Given the description of an element on the screen output the (x, y) to click on. 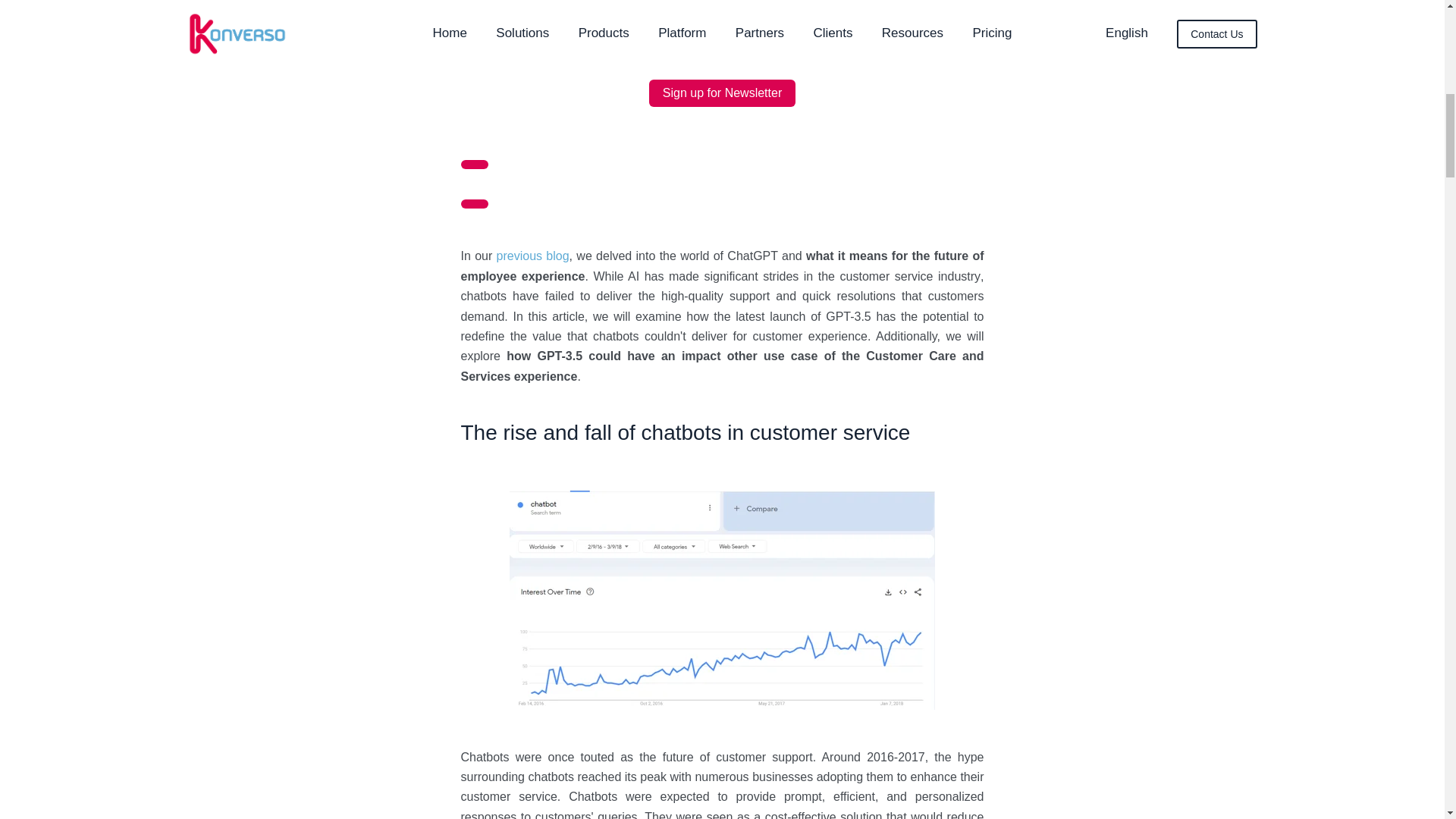
Sign up for Newsletter (721, 93)
Sign up for Newsletter (474, 203)
Sign up for Newsletter (474, 163)
